Given the description of an element on the screen output the (x, y) to click on. 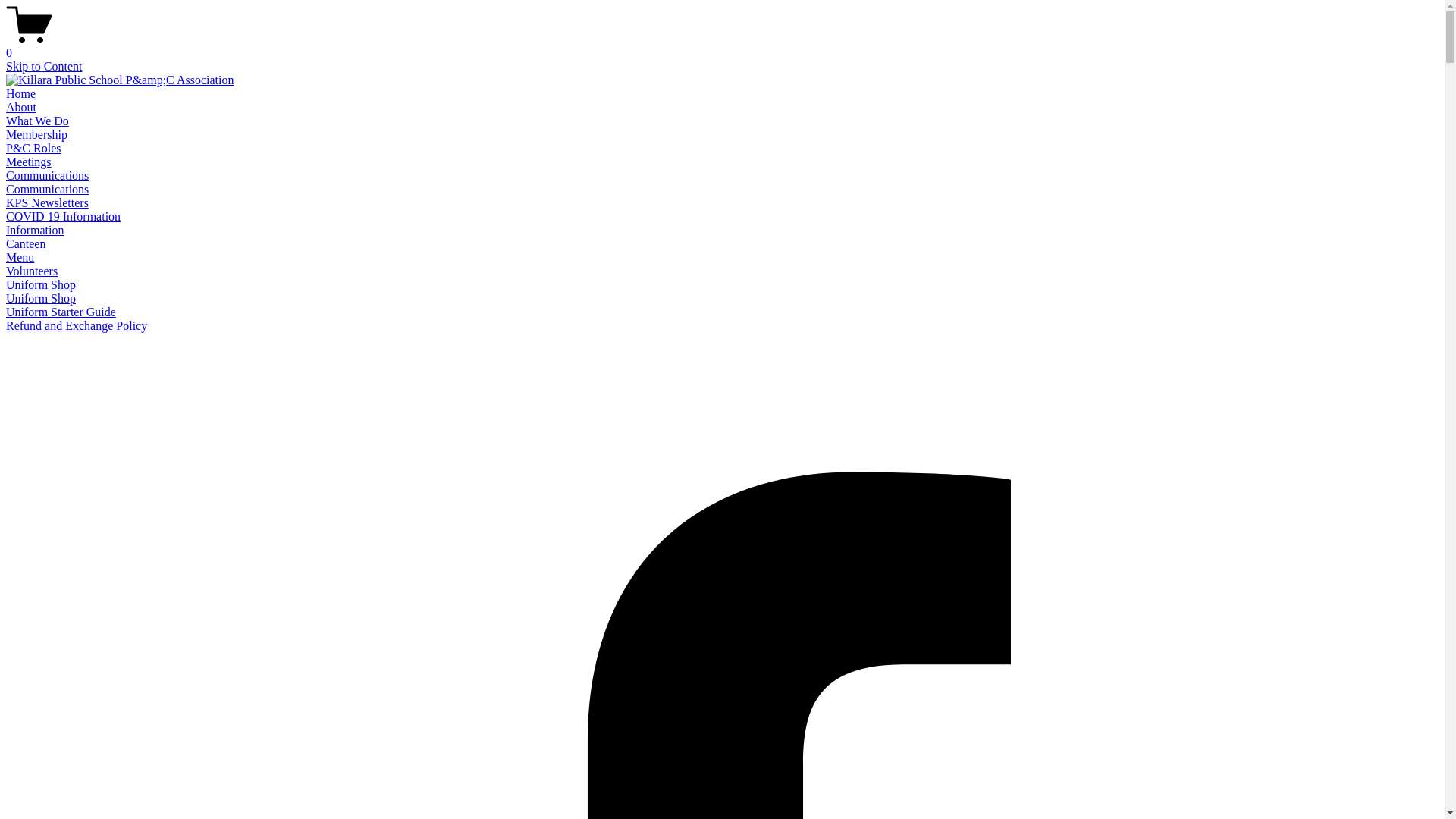
KPS Newsletters Element type: text (47, 202)
About Element type: text (21, 106)
Communications Element type: text (47, 188)
Home Element type: text (20, 93)
Communications Element type: text (47, 175)
Volunteers Element type: text (31, 270)
Meetings Element type: text (28, 161)
Canteen Element type: text (25, 243)
Skip to Content Element type: text (43, 65)
Menu Element type: text (20, 257)
0 Element type: text (722, 45)
Membership Element type: text (36, 134)
Uniform Starter Guide Element type: text (61, 311)
Refund and Exchange Policy Element type: text (76, 325)
COVID 19 Information Element type: text (63, 216)
Information Element type: text (34, 229)
What We Do Element type: text (37, 120)
P&C Roles Element type: text (33, 147)
Uniform Shop Element type: text (40, 297)
Uniform Shop Element type: text (40, 284)
